Given the description of an element on the screen output the (x, y) to click on. 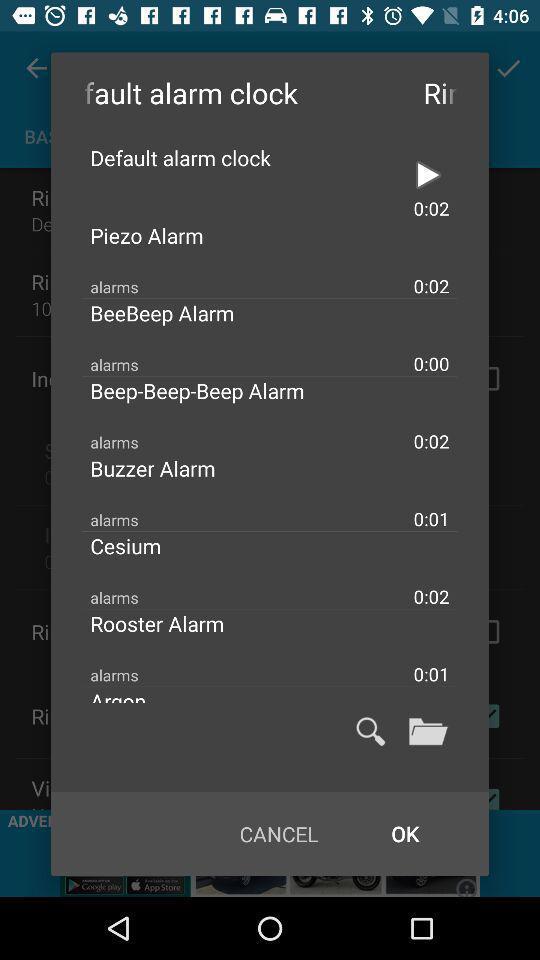
inbox button (428, 731)
